Given the description of an element on the screen output the (x, y) to click on. 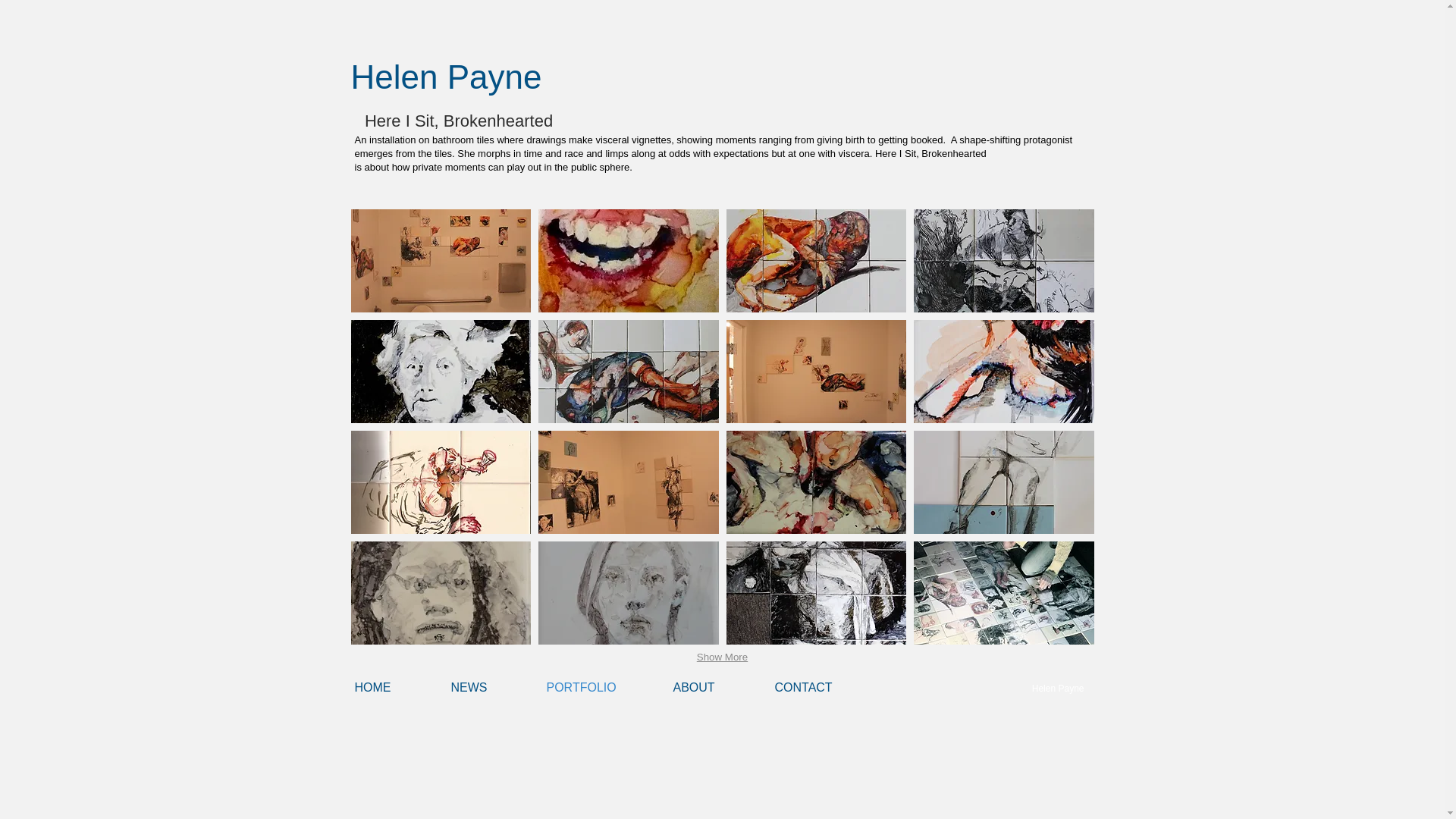
HOME (395, 687)
ABOUT (716, 687)
NEWS (490, 687)
Show More (721, 657)
PORTFOLIO (601, 687)
CONTACT (825, 687)
Helen Payne (445, 76)
